Given the description of an element on the screen output the (x, y) to click on. 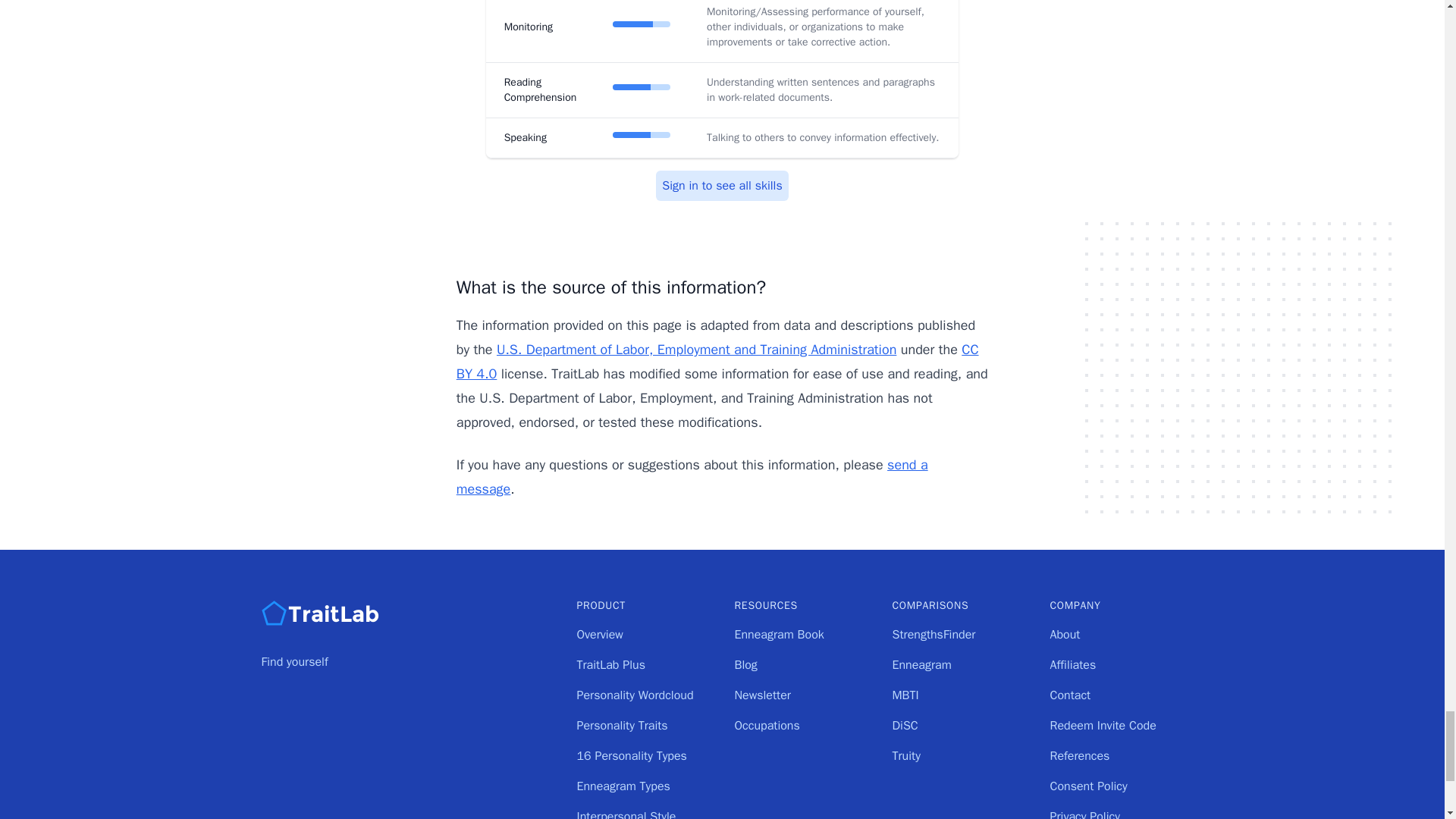
send a message (692, 476)
Personality Wordcloud (634, 694)
Interpersonal Style (625, 814)
Overview (599, 634)
16 Personality Types (630, 755)
Enneagram Types (622, 785)
CC BY 4.0 (717, 361)
Sign in to see all skills (721, 185)
Personality Traits (621, 725)
